Given the description of an element on the screen output the (x, y) to click on. 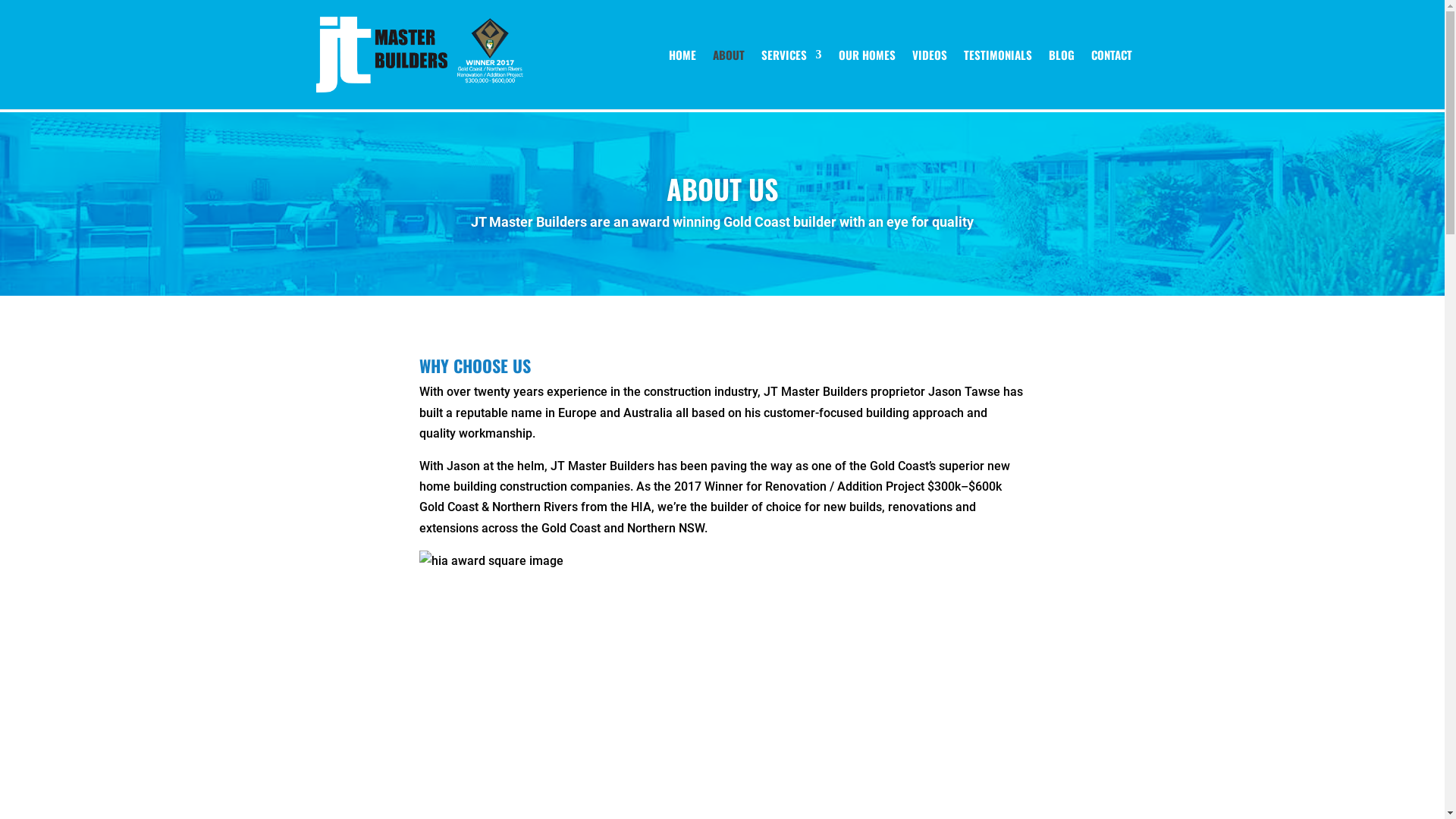
BLOG Element type: text (1060, 79)
CONTACT Element type: text (1110, 79)
HOME Element type: text (682, 79)
ABOUT Element type: text (728, 79)
TESTIMONIALS Element type: text (997, 79)
About JT Master Builders 1 Element type: hover (721, 681)
VIDEOS Element type: text (928, 79)
OUR HOMES Element type: text (866, 79)
SERVICES Element type: text (791, 79)
